Given the description of an element on the screen output the (x, y) to click on. 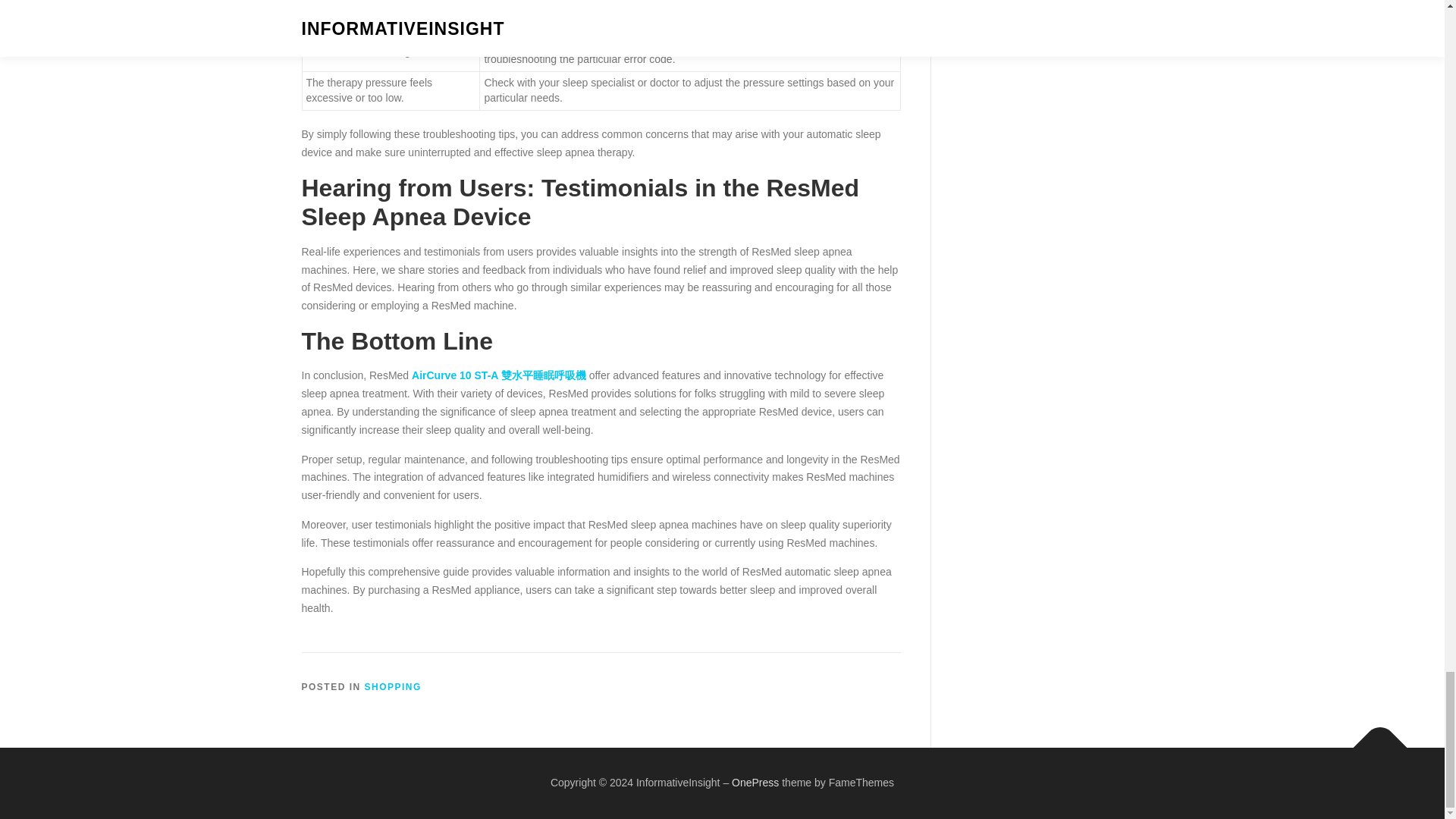
Back To Top (1372, 740)
SHOPPING (393, 686)
